Given the description of an element on the screen output the (x, y) to click on. 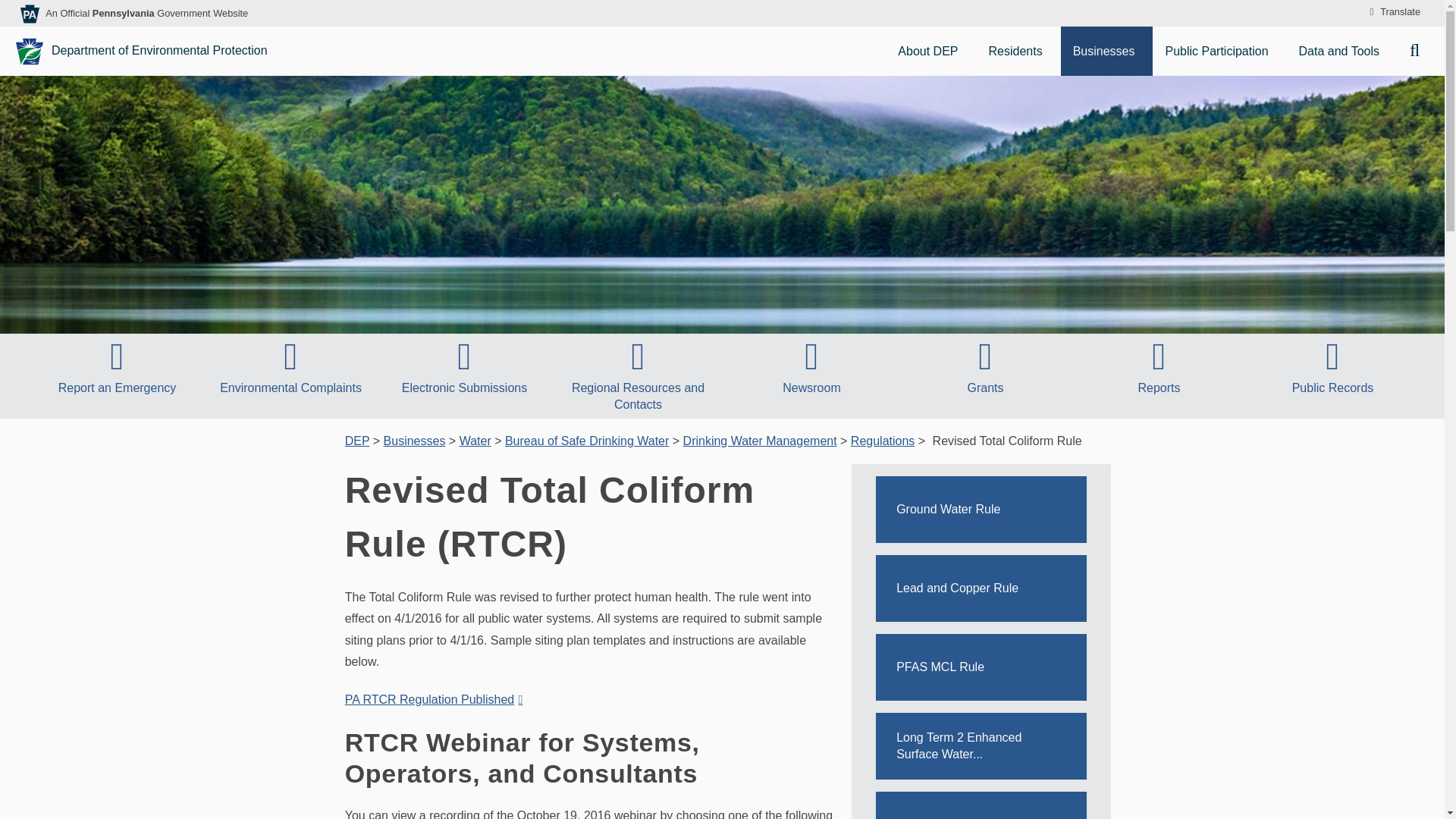
About DEP (930, 51)
Businesses (1107, 51)
Department of Environmental Protection (142, 51)
Translate (1393, 12)
Residents (1017, 51)
An Official Pennsylvania Government Website (146, 11)
